Given the description of an element on the screen output the (x, y) to click on. 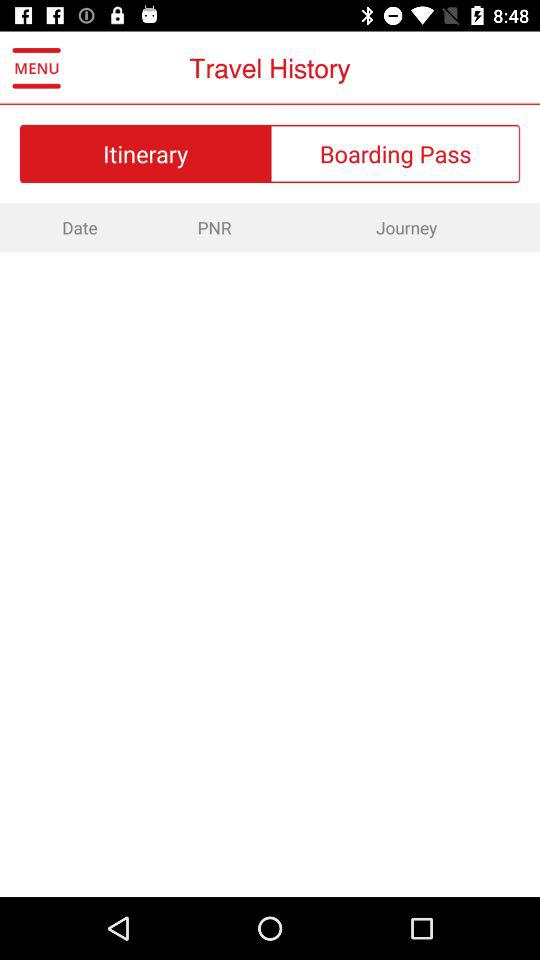
press the pnr (214, 227)
